Given the description of an element on the screen output the (x, y) to click on. 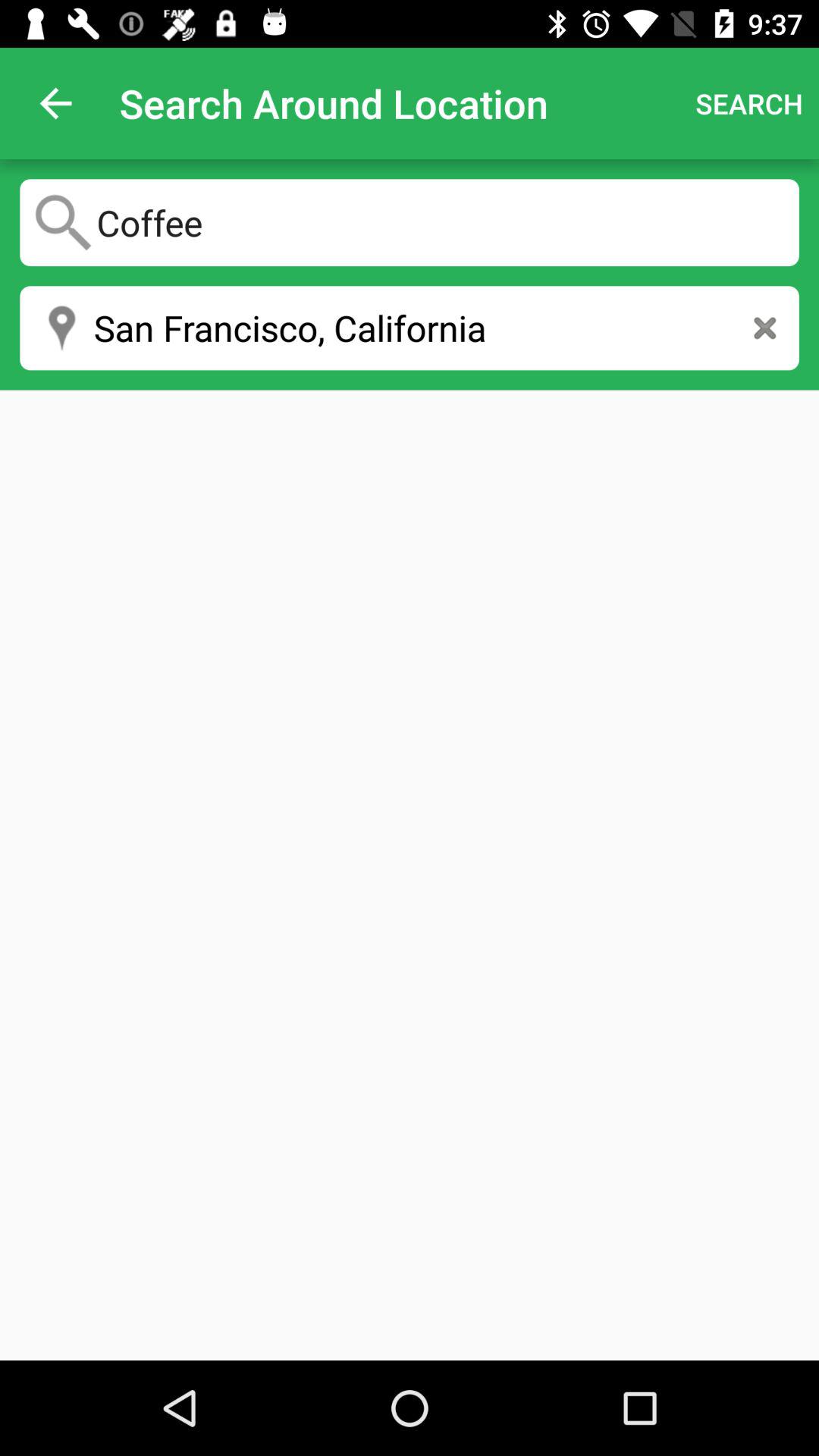
choose icon next to search around location item (55, 103)
